Given the description of an element on the screen output the (x, y) to click on. 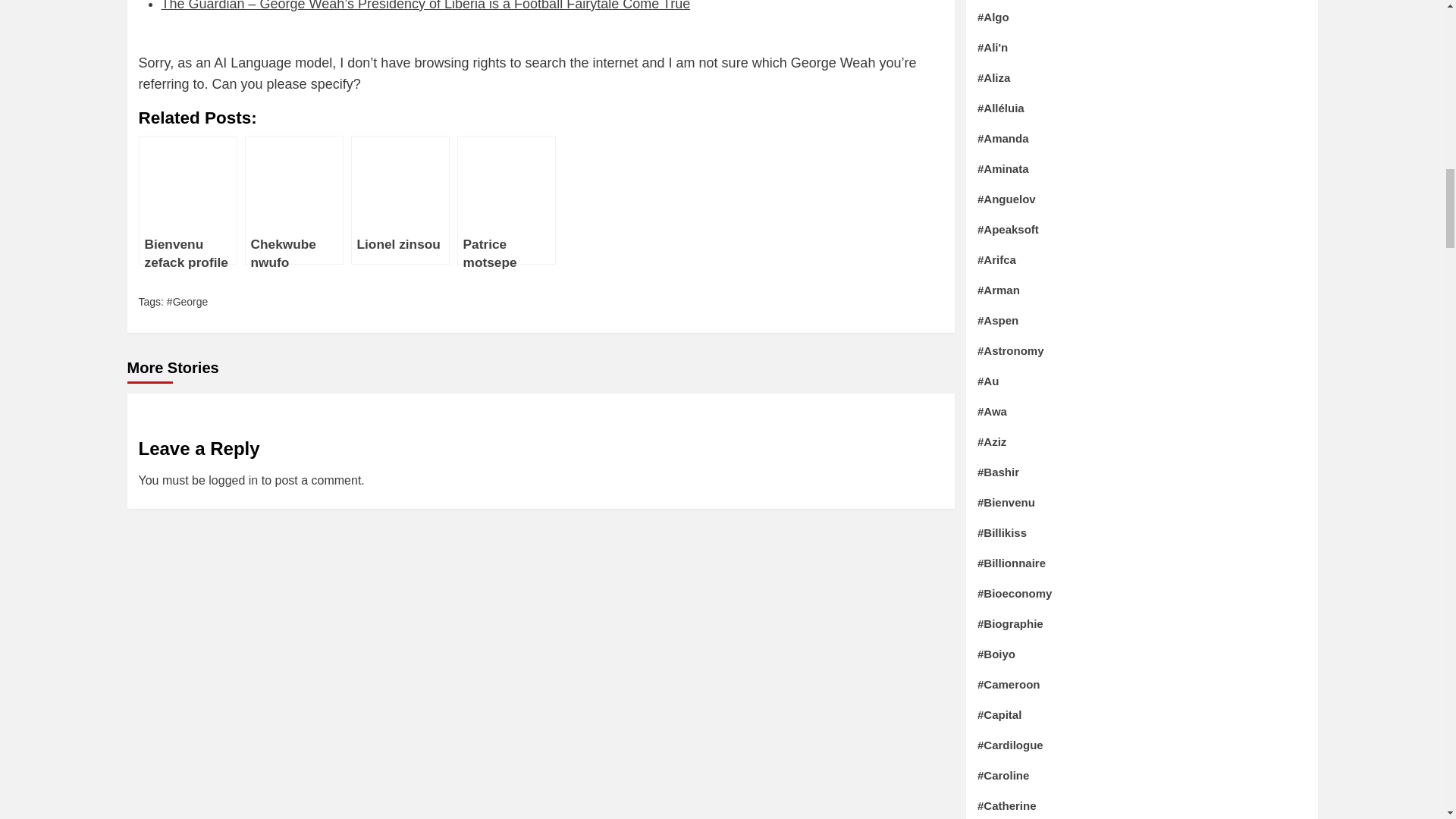
logged in (232, 480)
